Given the description of an element on the screen output the (x, y) to click on. 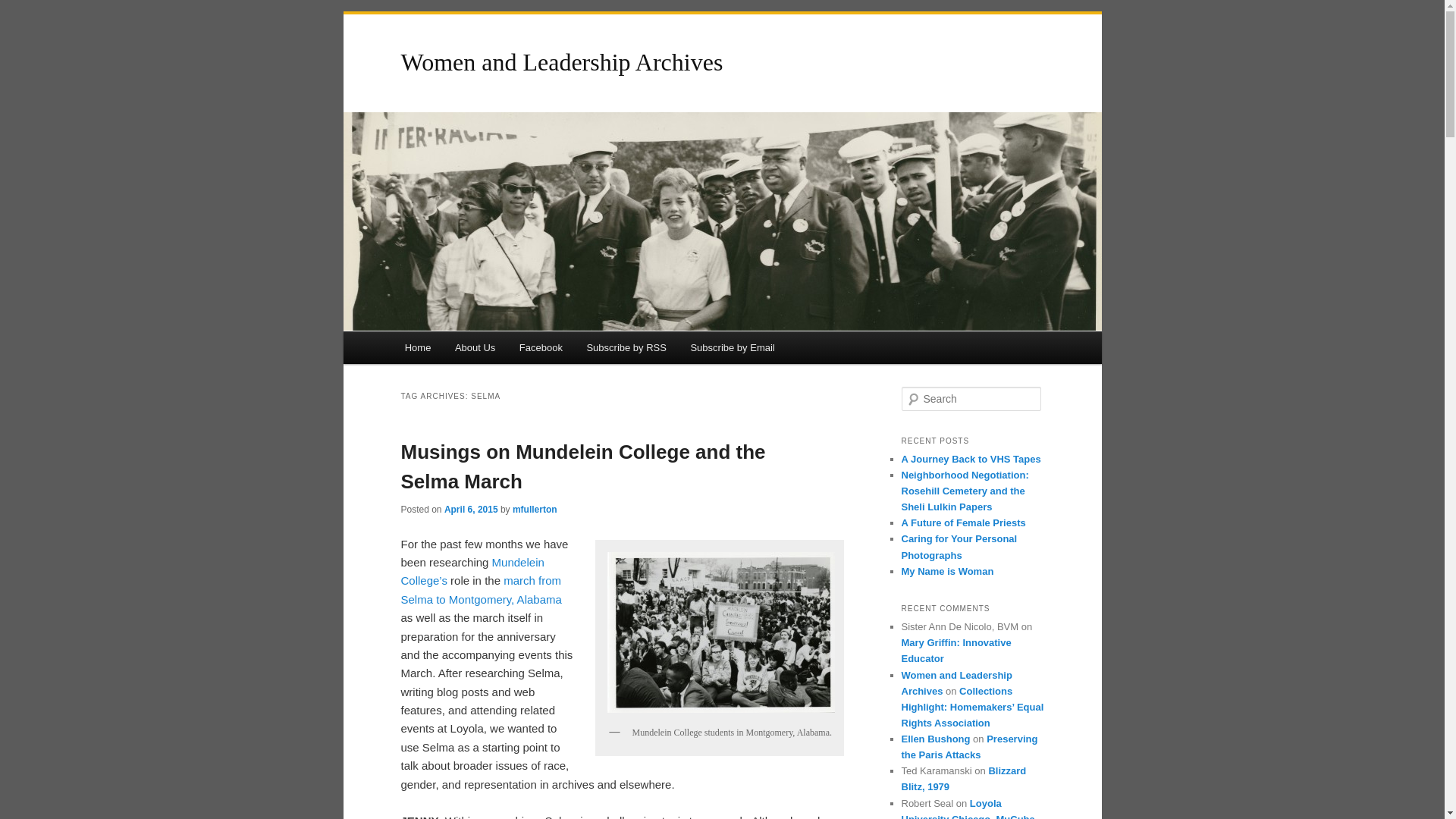
Facebook (540, 347)
Skip to secondary content (479, 350)
march from Selma to Montgomery, Alabama (480, 589)
Skip to secondary content (479, 350)
Subscribe by Email (732, 347)
mfullerton (534, 509)
Women and Leadership Archives (561, 62)
Women and Leadership Archives (561, 62)
View all posts by mfullerton (534, 509)
About Us (474, 347)
Skip to primary content (472, 350)
Subscribe by RSS (626, 347)
Home (417, 347)
4:31 pm (470, 509)
